Given the description of an element on the screen output the (x, y) to click on. 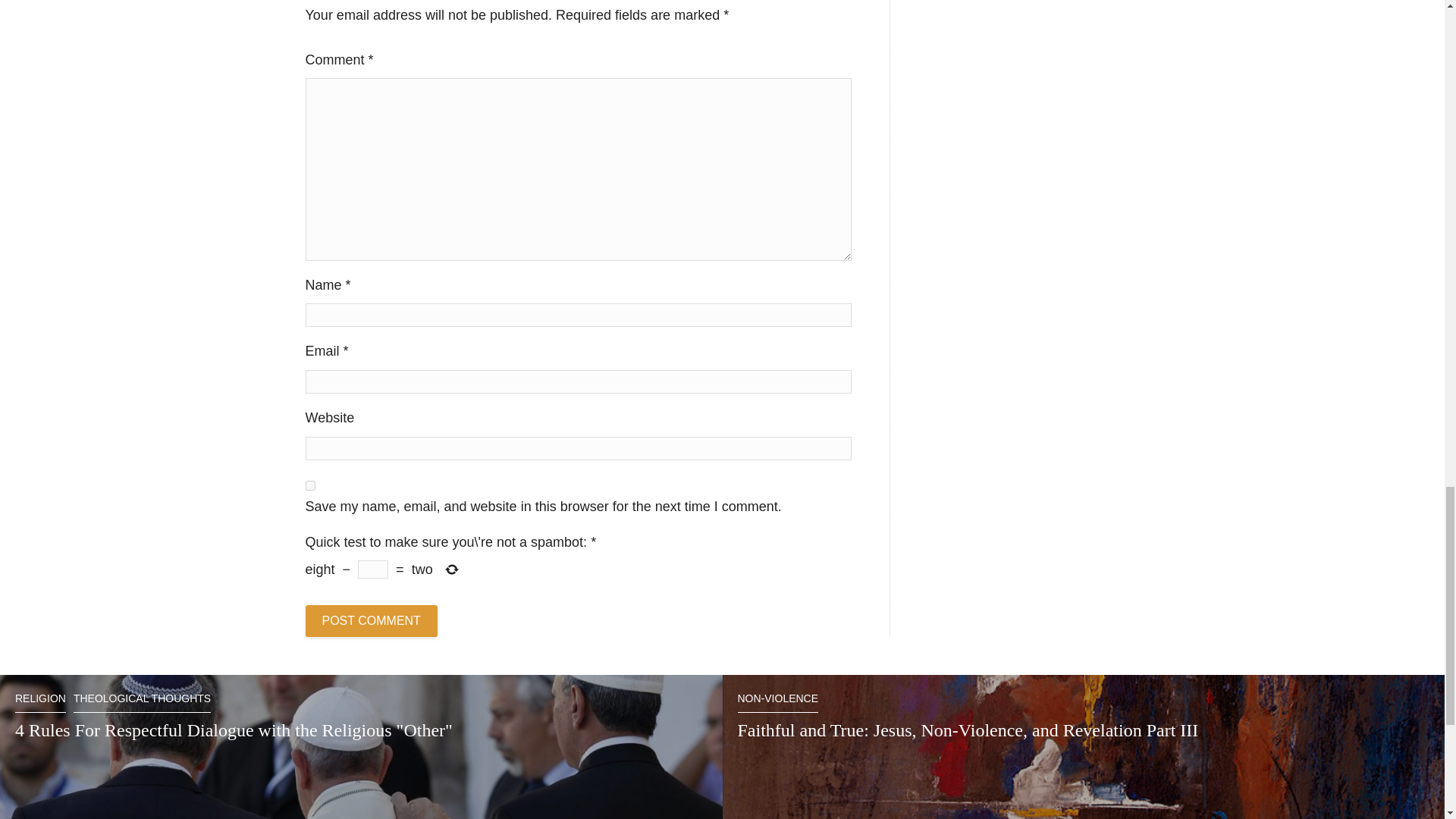
4 Rules For Respectful Dialogue with the Religious "Other" (233, 730)
Post Comment (370, 621)
THEOLOGICAL THOUGHTS (142, 702)
yes (309, 485)
Post Comment (370, 621)
NON-VIOLENCE (777, 702)
RELIGION (39, 702)
